Given the description of an element on the screen output the (x, y) to click on. 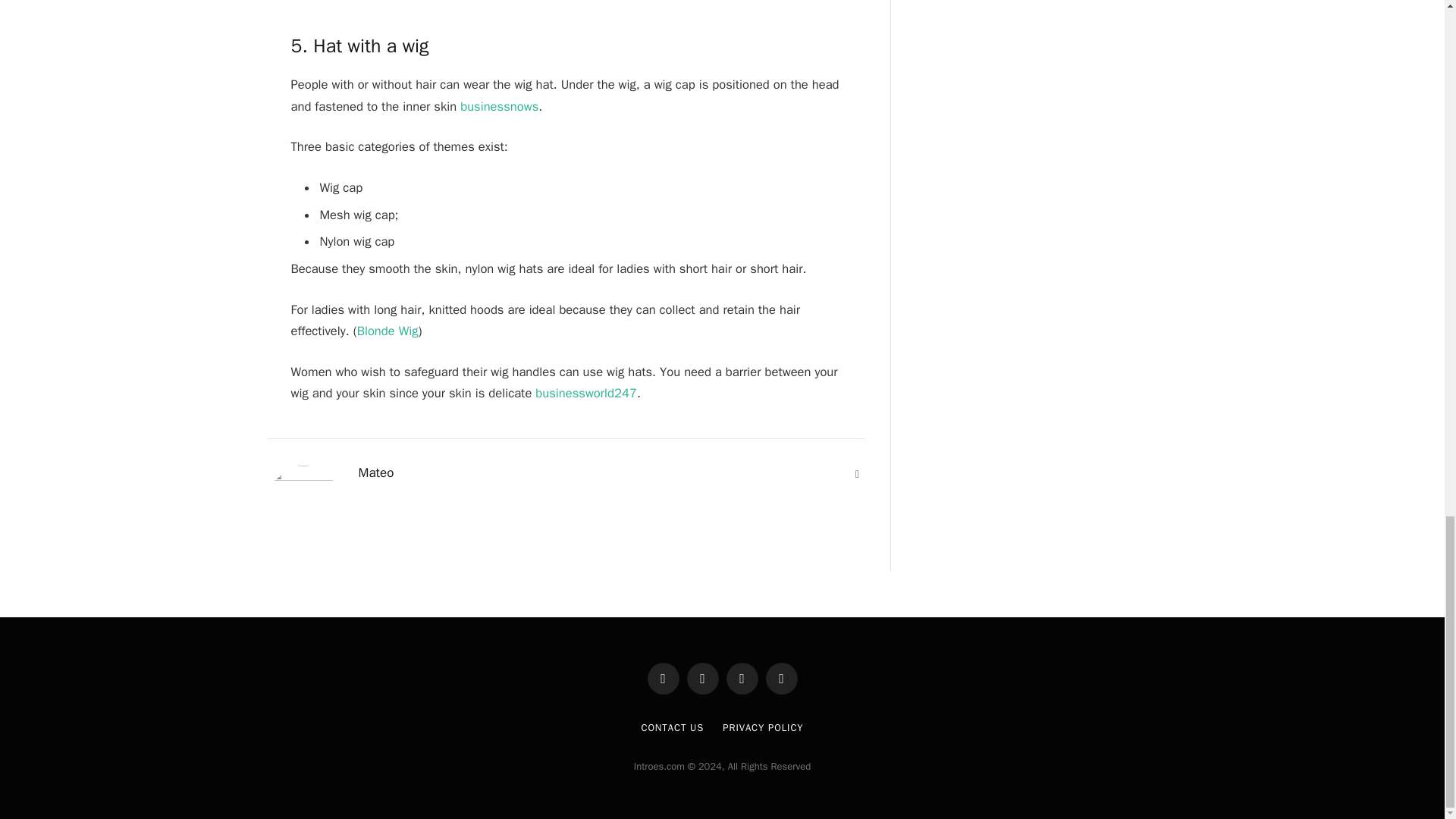
businessnows (499, 106)
businessworld247 (586, 392)
Website (856, 474)
Mateo (375, 473)
Blonde Wig (387, 330)
Website (856, 474)
Posts by Mateo (375, 473)
